Given the description of an element on the screen output the (x, y) to click on. 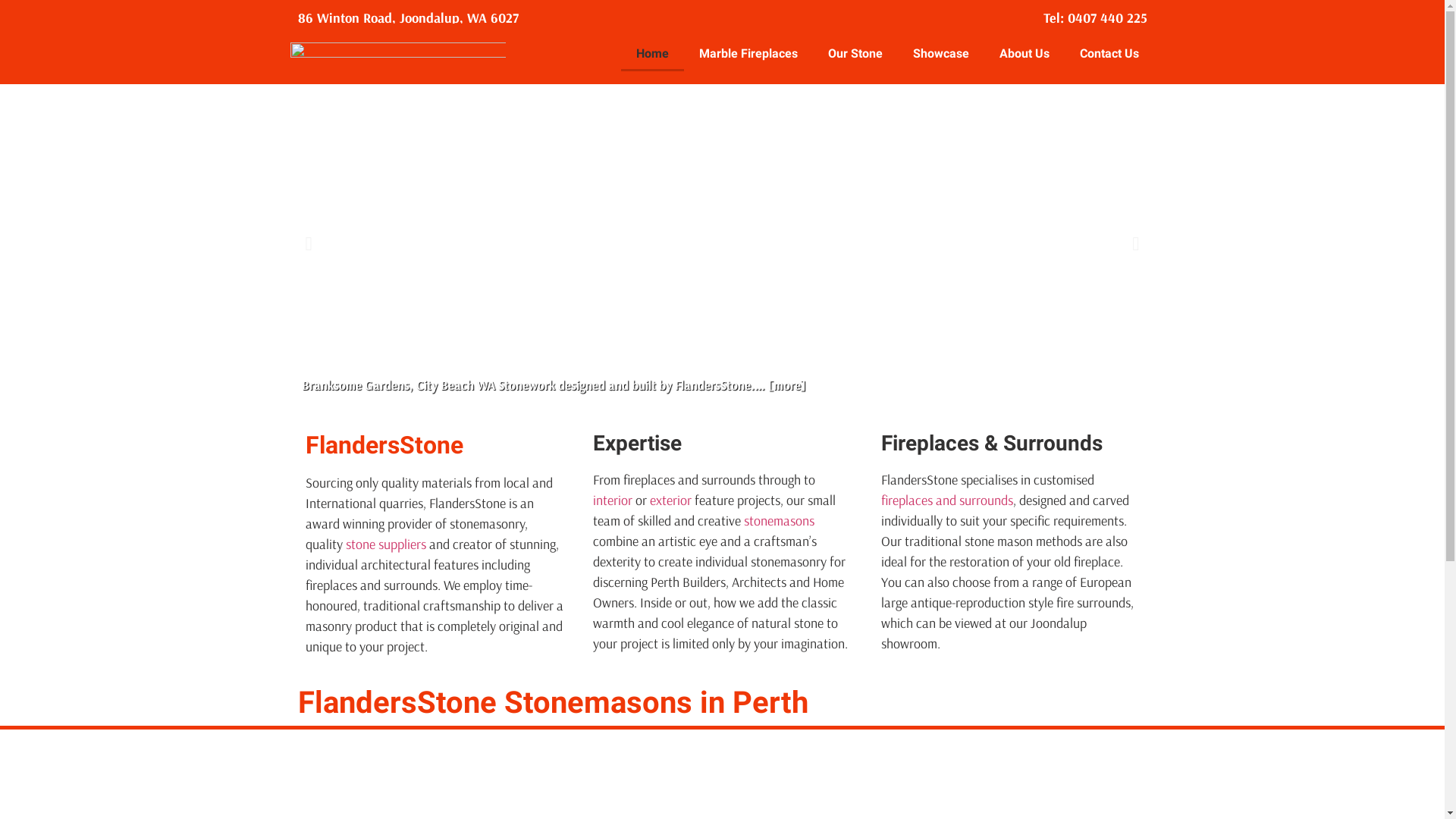
fireplaces and surrounds Element type: text (947, 499)
exterior Element type: text (670, 499)
stonemasons Element type: text (778, 520)
interior Element type: text (612, 499)
Marble Fireplaces Element type: text (748, 53)
Showcase Element type: text (940, 53)
Home Element type: text (652, 53)
stone suppliers Element type: text (385, 543)
Contact Us Element type: text (1109, 53)
About Us Element type: text (1024, 53)
Our Stone Element type: text (854, 53)
